Given the description of an element on the screen output the (x, y) to click on. 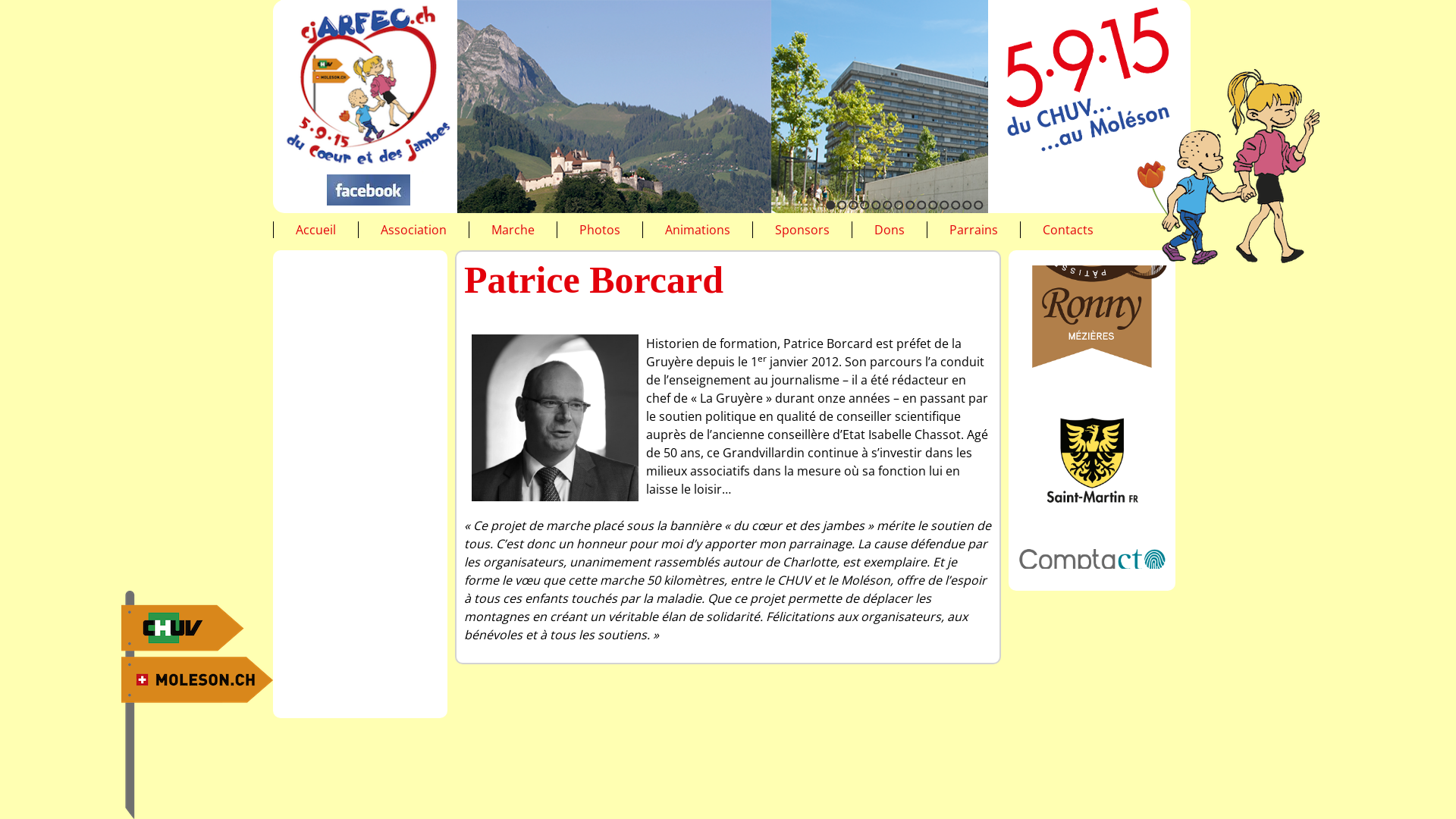
11 Element type: text (944, 205)
14 Element type: text (978, 205)
13 Element type: text (967, 205)
3 Element type: text (853, 205)
10 Element type: text (933, 205)
6 Element type: text (887, 205)
4 Element type: text (864, 205)
Accueil Element type: hover (368, 86)
Marche Element type: text (512, 229)
Contacts Element type: text (1067, 229)
12 Element type: text (955, 205)
Animations Element type: text (697, 229)
Sponsors Element type: text (802, 229)
Parrains Element type: text (973, 229)
7 Element type: text (898, 205)
Photos Element type: text (599, 229)
1 Element type: text (830, 205)
Association Element type: text (413, 229)
2 Element type: text (842, 205)
9 Element type: text (921, 205)
Dons Element type: text (889, 229)
Accueil Element type: text (315, 229)
8 Element type: text (910, 205)
5 Element type: text (876, 205)
